Given the description of an element on the screen output the (x, y) to click on. 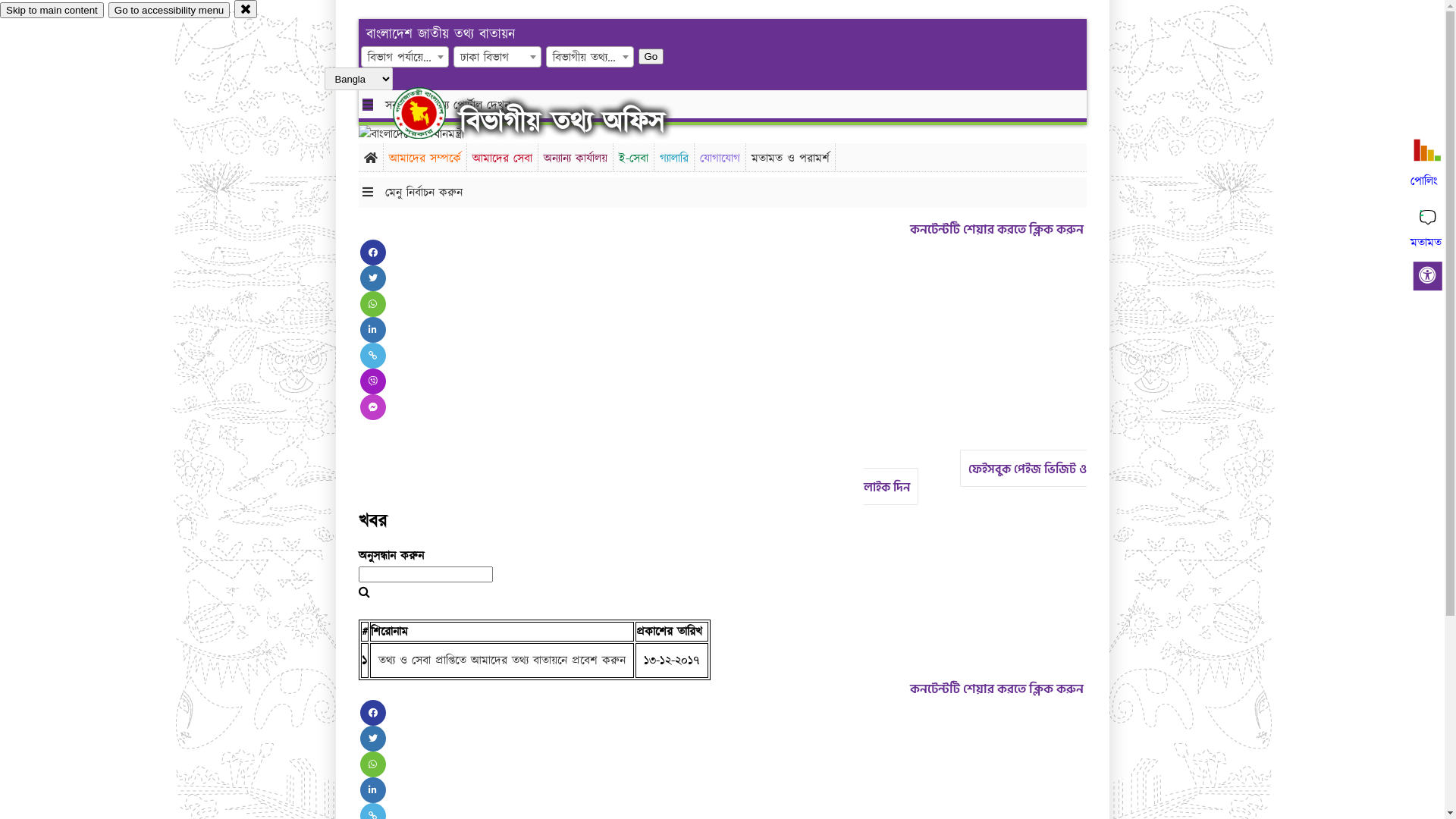
Go Element type: text (651, 56)
Go to accessibility menu Element type: text (168, 10)
Skip to main content Element type: text (51, 10)

                
             Element type: hover (431, 112)
close Element type: hover (245, 9)
